Given the description of an element on the screen output the (x, y) to click on. 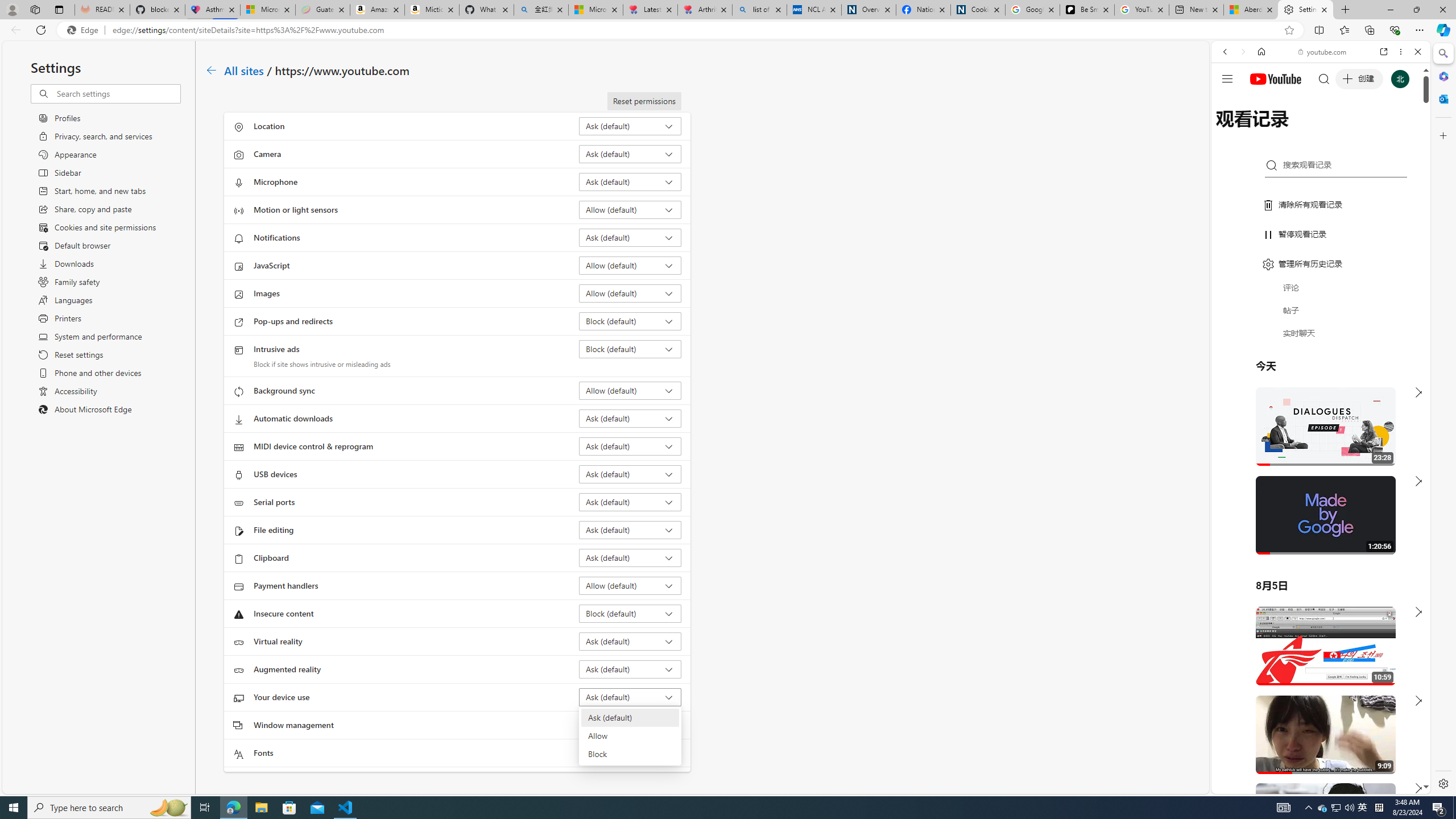
Fonts Ask (default) (630, 752)
Search videos from youtube.com (1299, 373)
MIDI device control & reprogram Ask (default) (630, 446)
File editing Ask (default) (630, 529)
Cookies (978, 9)
